Given the description of an element on the screen output the (x, y) to click on. 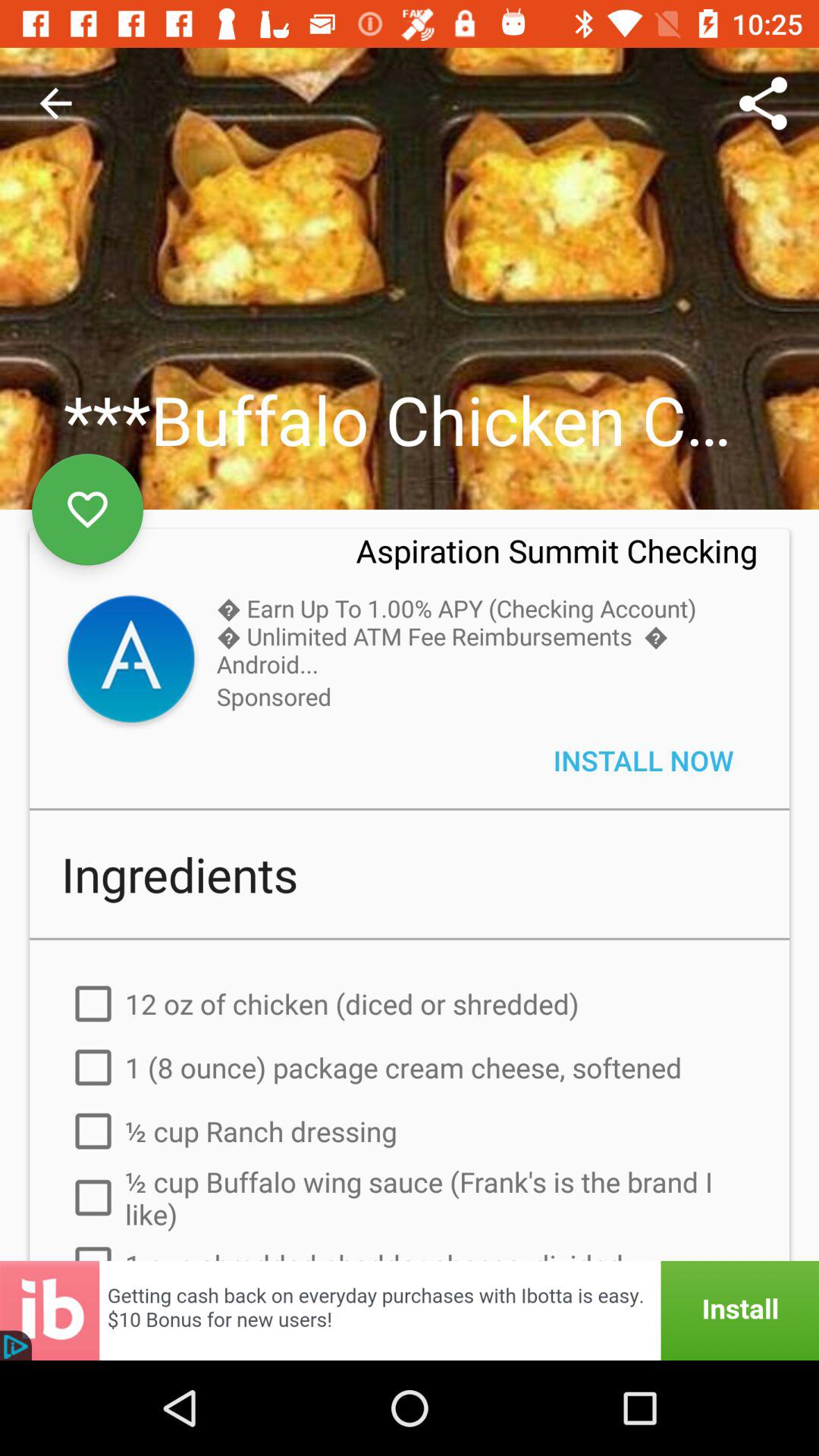
select advertisement (409, 1310)
